Given the description of an element on the screen output the (x, y) to click on. 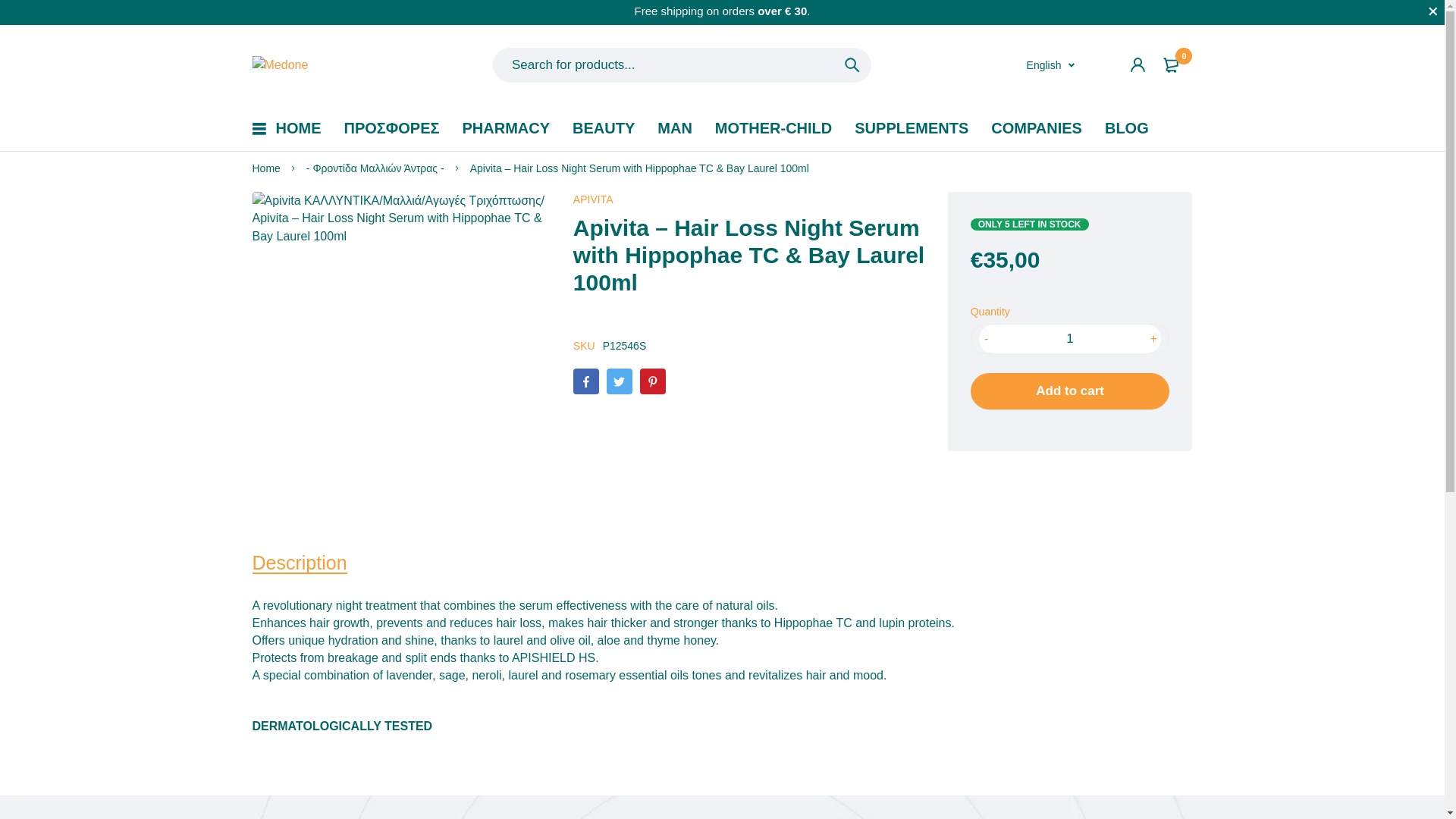
1 (1069, 338)
English (1050, 64)
PHARMACY (506, 128)
Facebook (585, 380)
Twitter (619, 380)
Pinterest (652, 380)
Medone (279, 64)
0 (1173, 64)
HOME (298, 128)
